Given the description of an element on the screen output the (x, y) to click on. 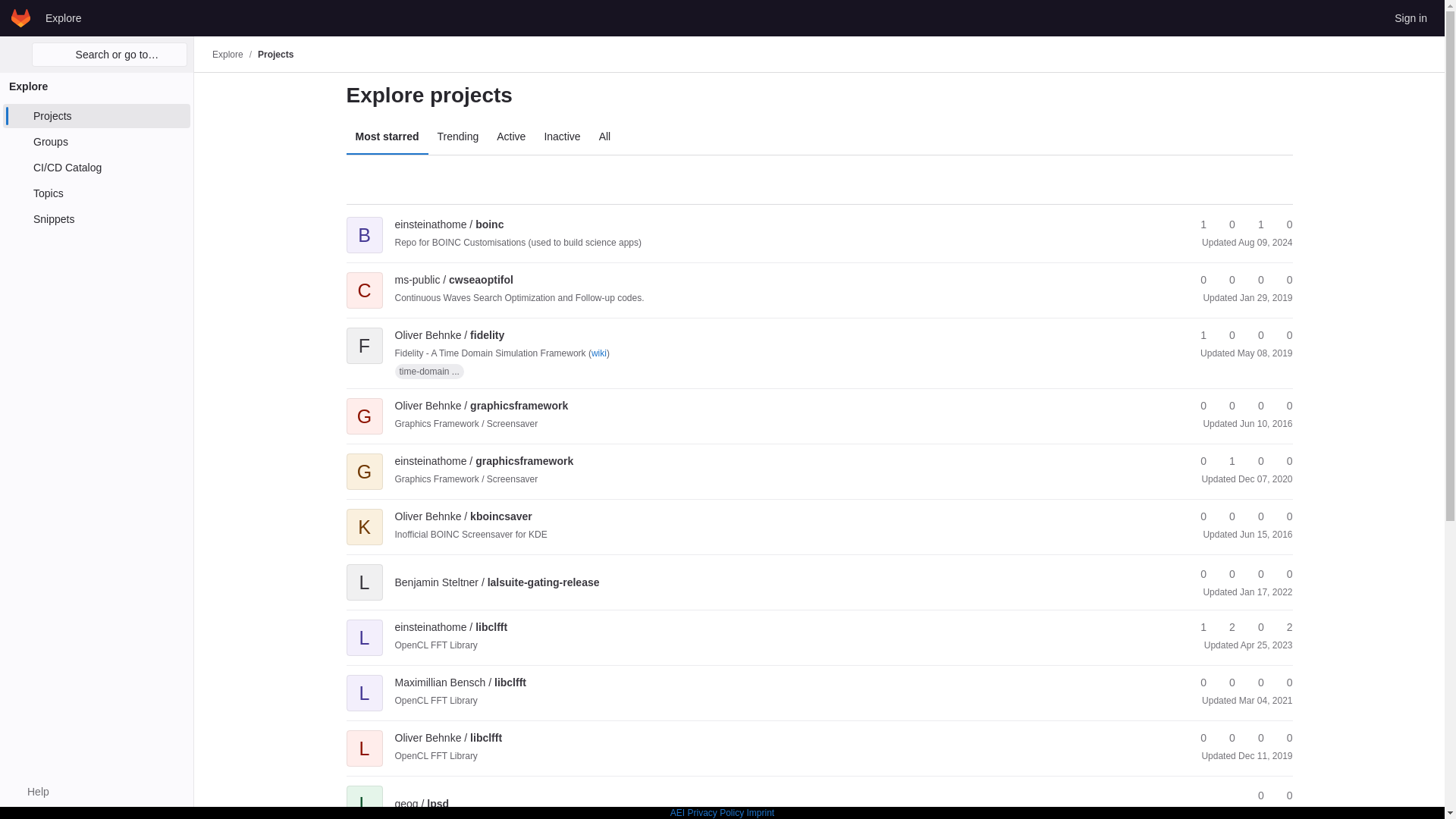
Projects (96, 115)
Homepage (20, 17)
Most starred (387, 135)
Forks (1224, 224)
Sign in (1410, 17)
0 (1224, 224)
Issues (1282, 279)
cwseaoptifol (453, 279)
Forks (1224, 279)
1 (1196, 224)
